Given the description of an element on the screen output the (x, y) to click on. 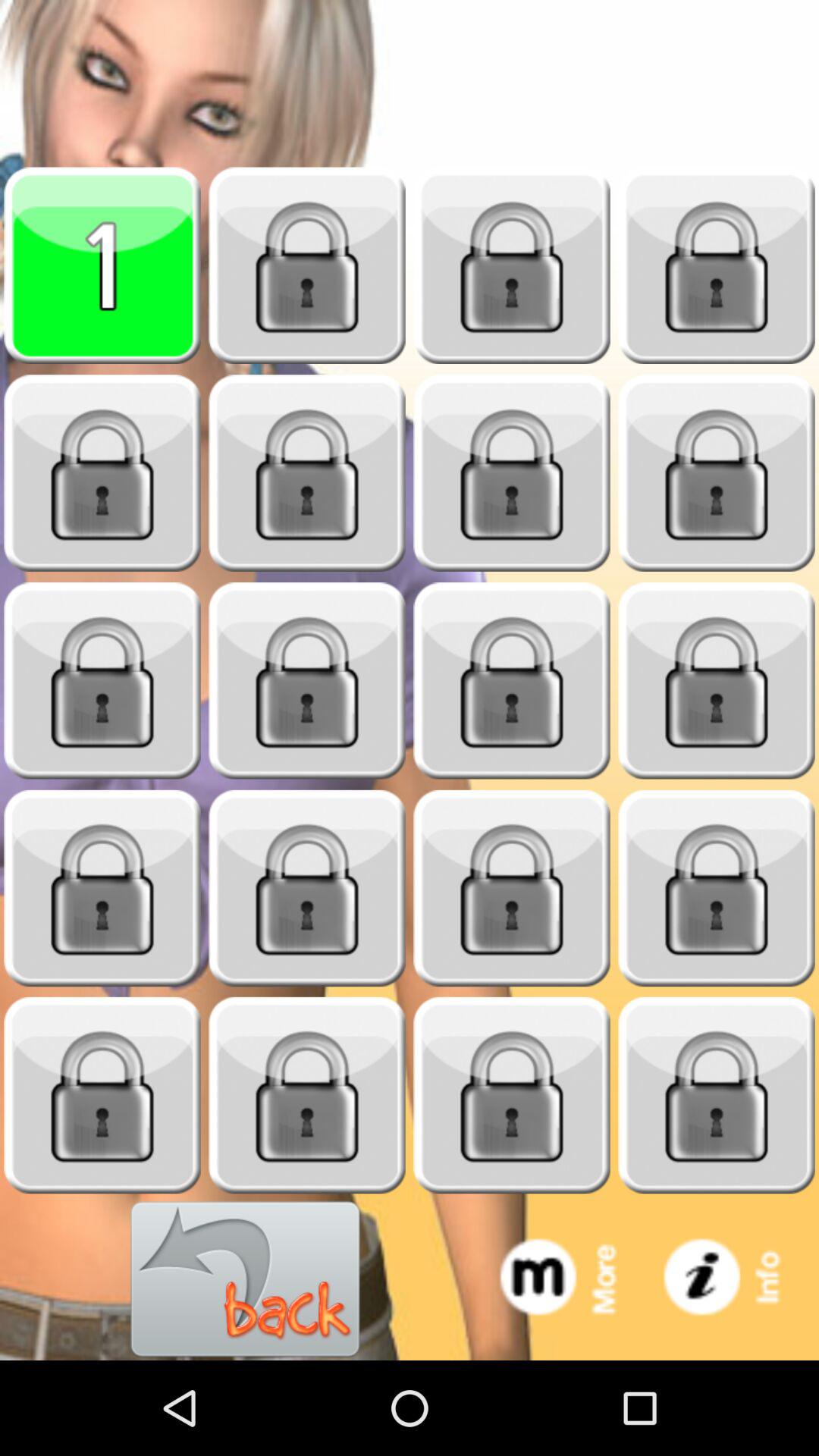
go to extra options (573, 1279)
